Given the description of an element on the screen output the (x, y) to click on. 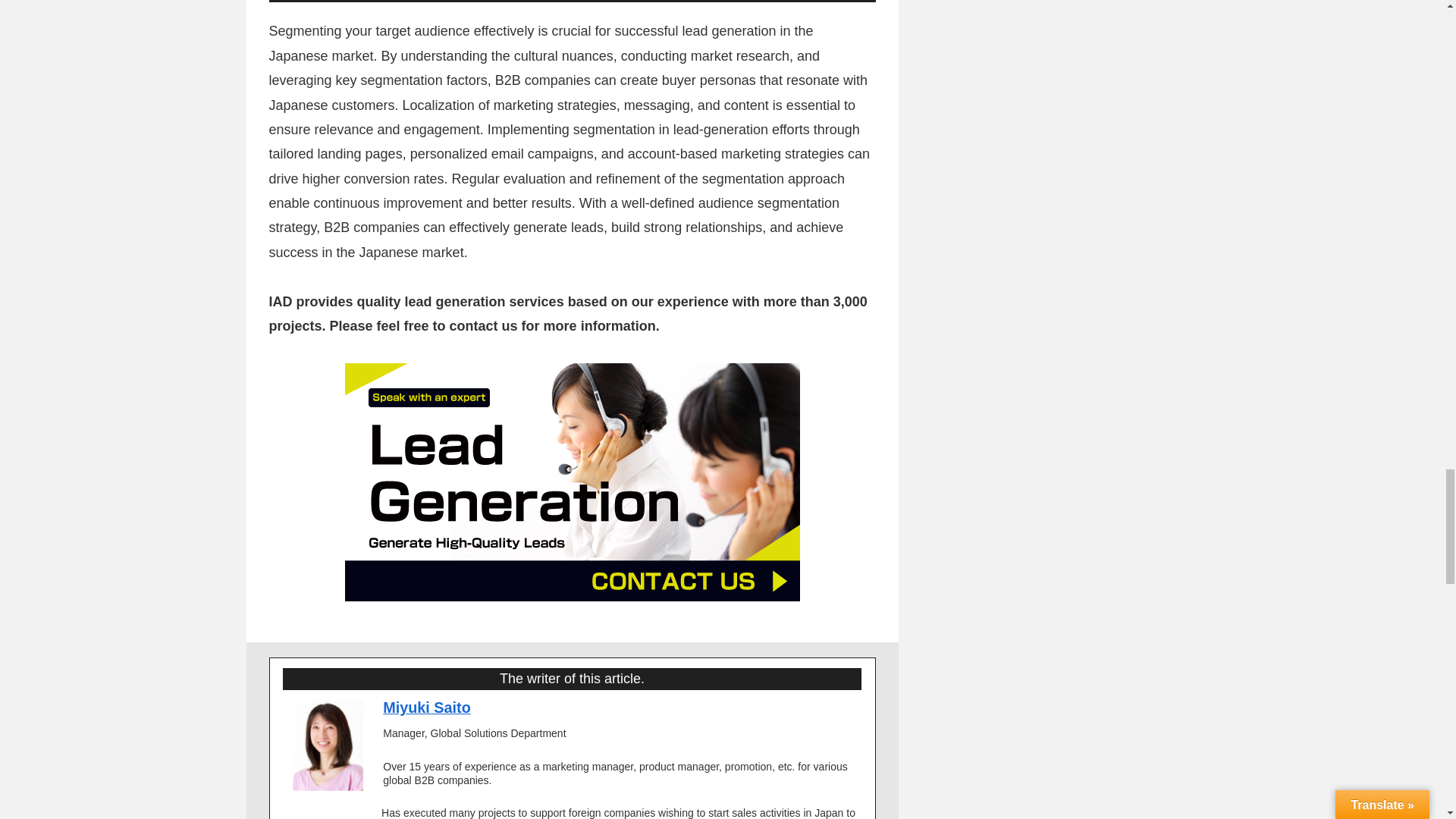
Miyuki Saito (426, 707)
